Given the description of an element on the screen output the (x, y) to click on. 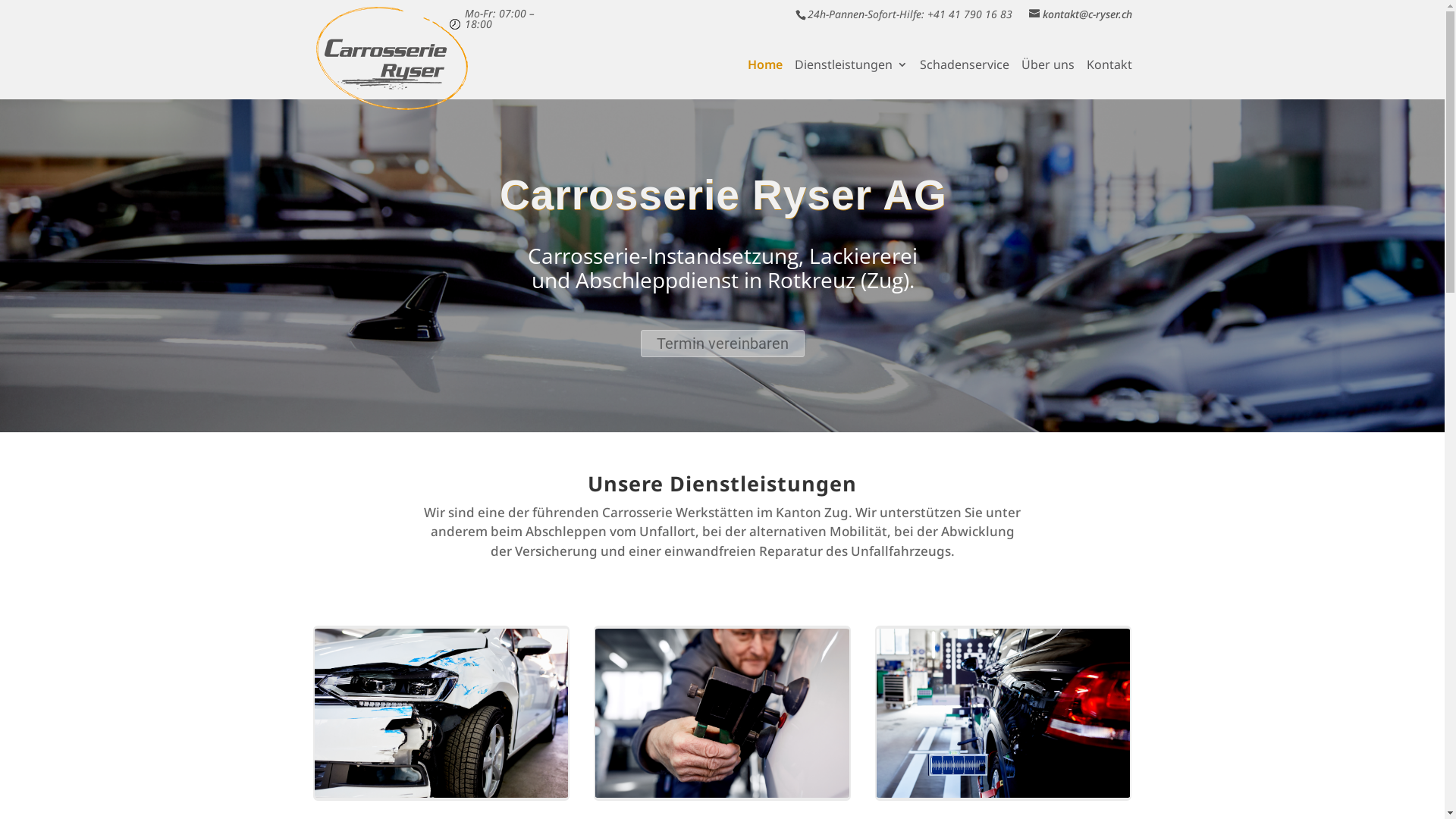
Home Element type: text (764, 79)
Schadenservice Element type: text (963, 79)
Dienstleistungen Element type: text (850, 79)
Kontakt Element type: text (1108, 79)
kontakt@c-ryser.ch Element type: text (1078, 13)
